Given the description of an element on the screen output the (x, y) to click on. 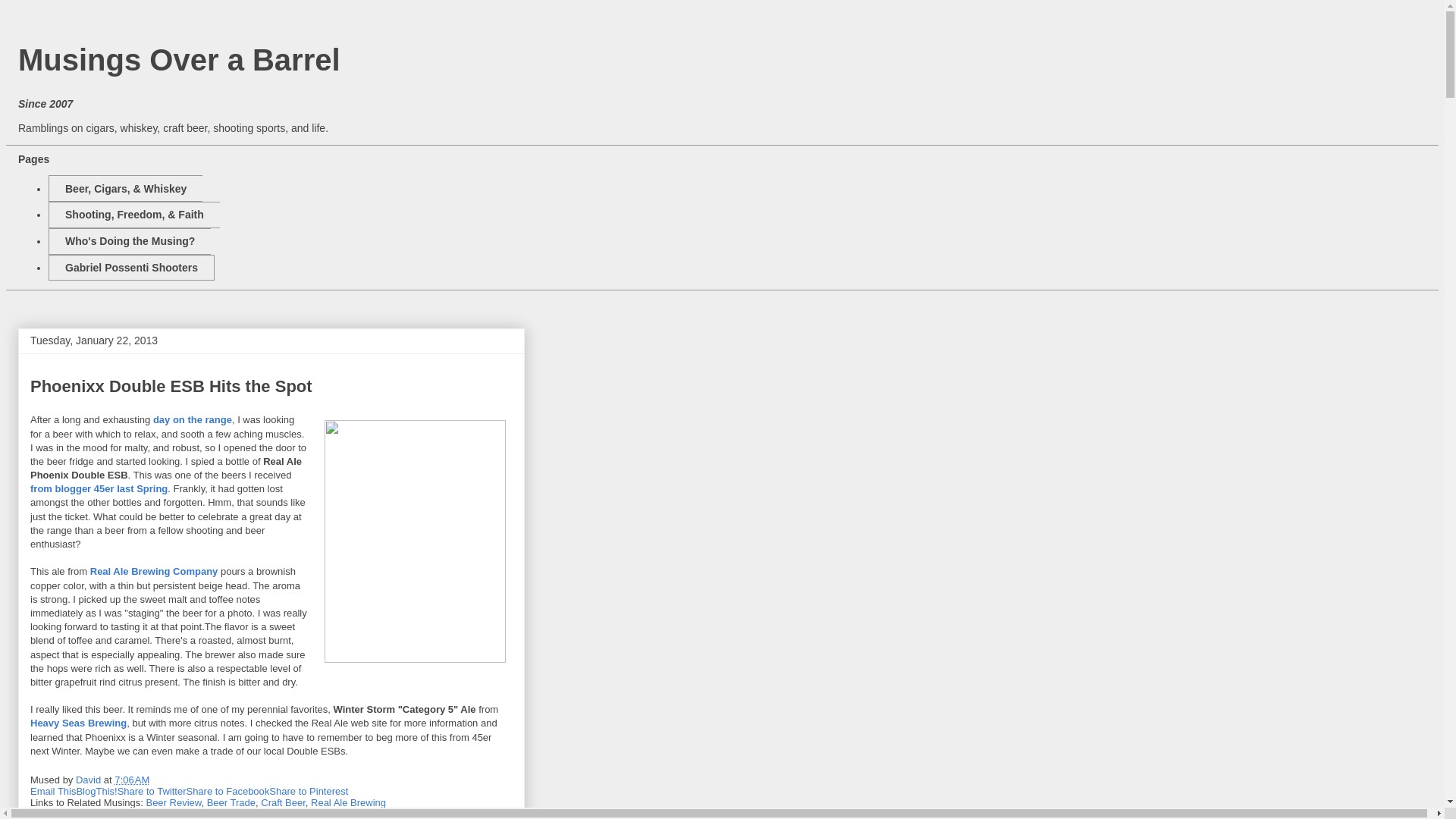
Share to Facebook (227, 790)
Gabriel Possenti Shooters (131, 267)
permanent link (132, 779)
Real Ale Brewing Company (154, 571)
day on the range (191, 419)
Heavy Seas Brewing (78, 722)
David (89, 779)
Who's Doing the Musing? (129, 241)
Share to Twitter (151, 790)
Share to Pinterest (308, 790)
author profile (89, 779)
Email Post (158, 779)
from blogger 45er last Spring (98, 488)
BlogThis! (95, 790)
